Given the description of an element on the screen output the (x, y) to click on. 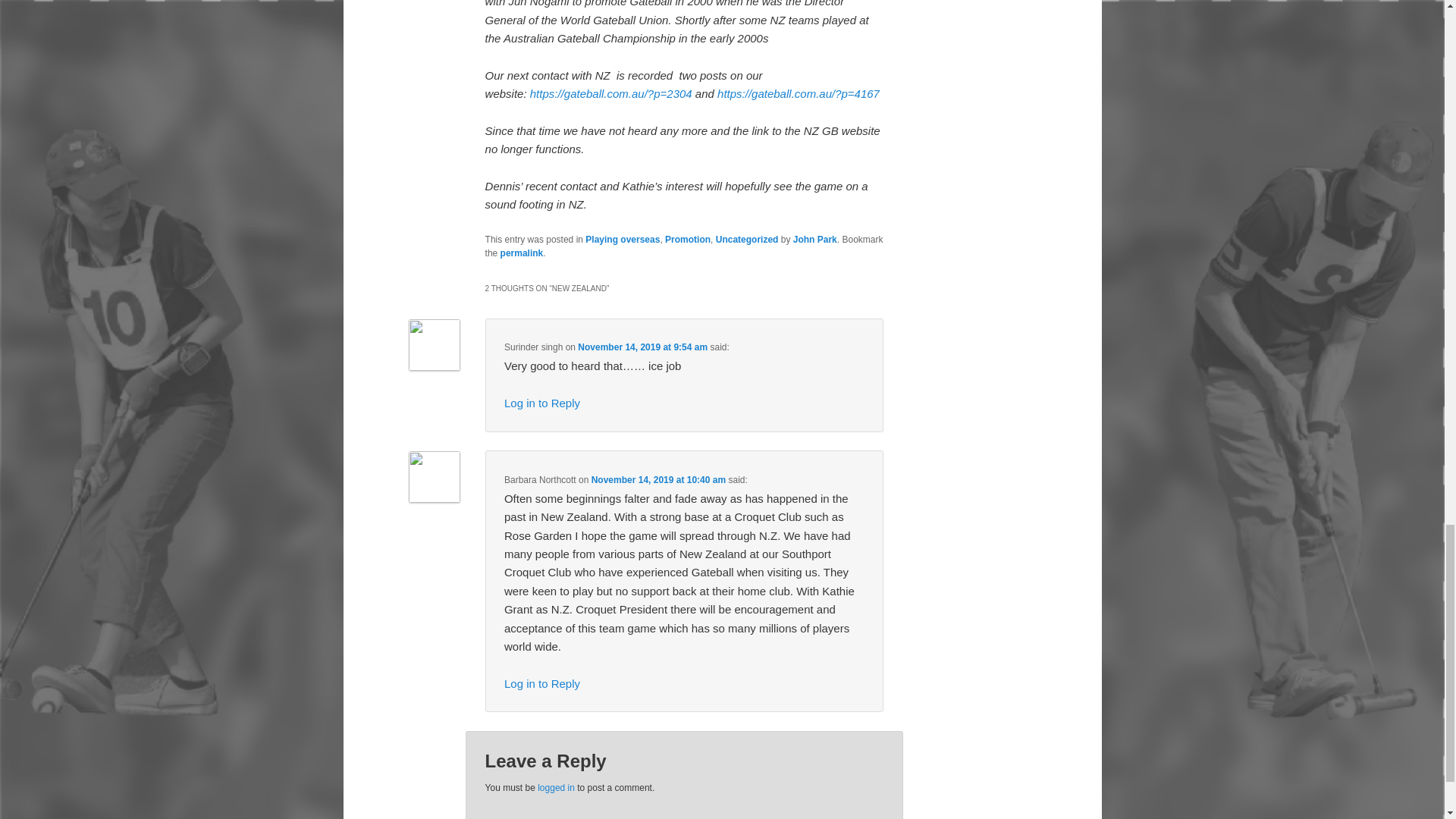
Permalink to New Zealand (521, 253)
